Given the description of an element on the screen output the (x, y) to click on. 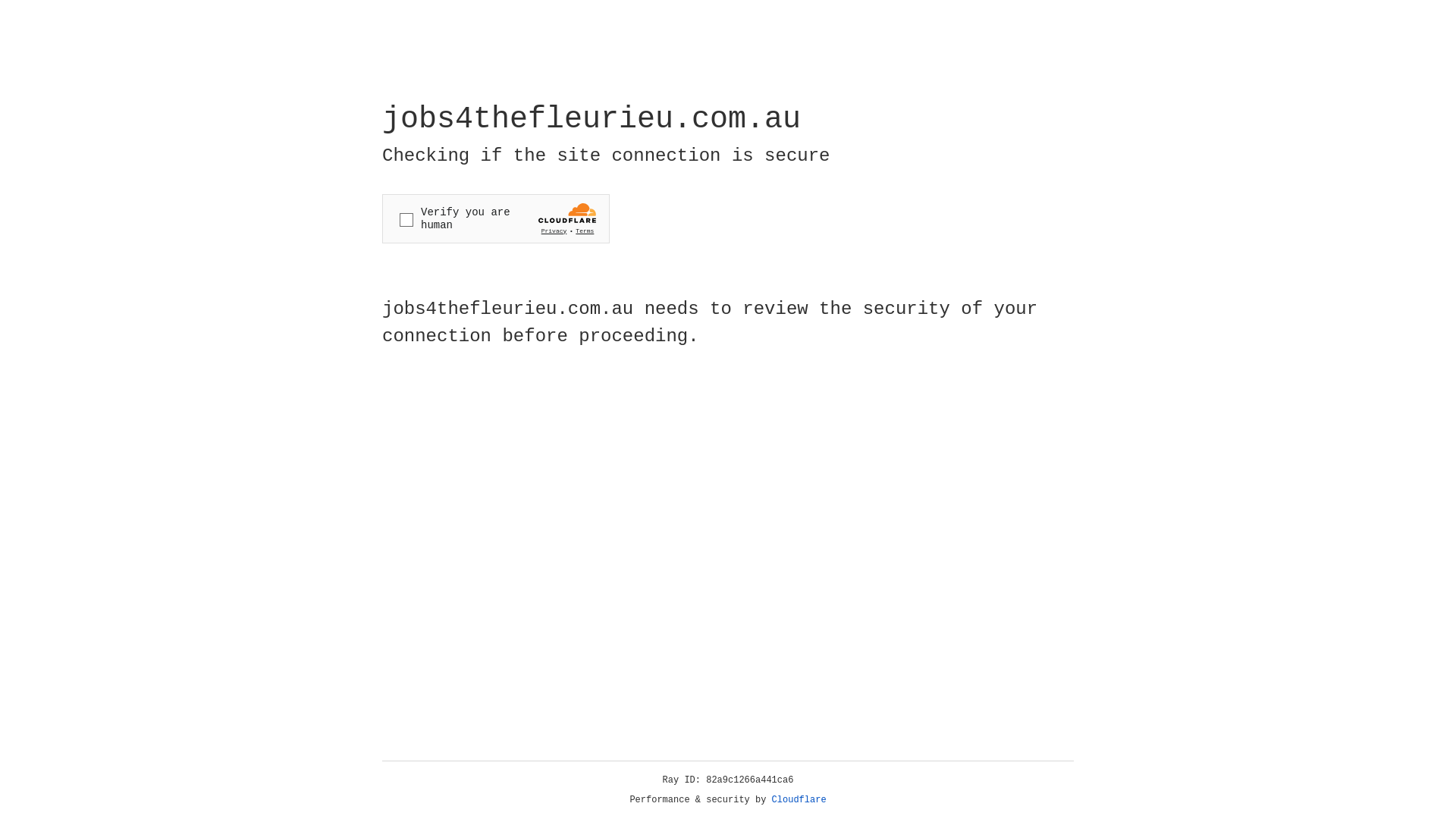
Cloudflare Element type: text (798, 799)
Widget containing a Cloudflare security challenge Element type: hover (495, 218)
